Given the description of an element on the screen output the (x, y) to click on. 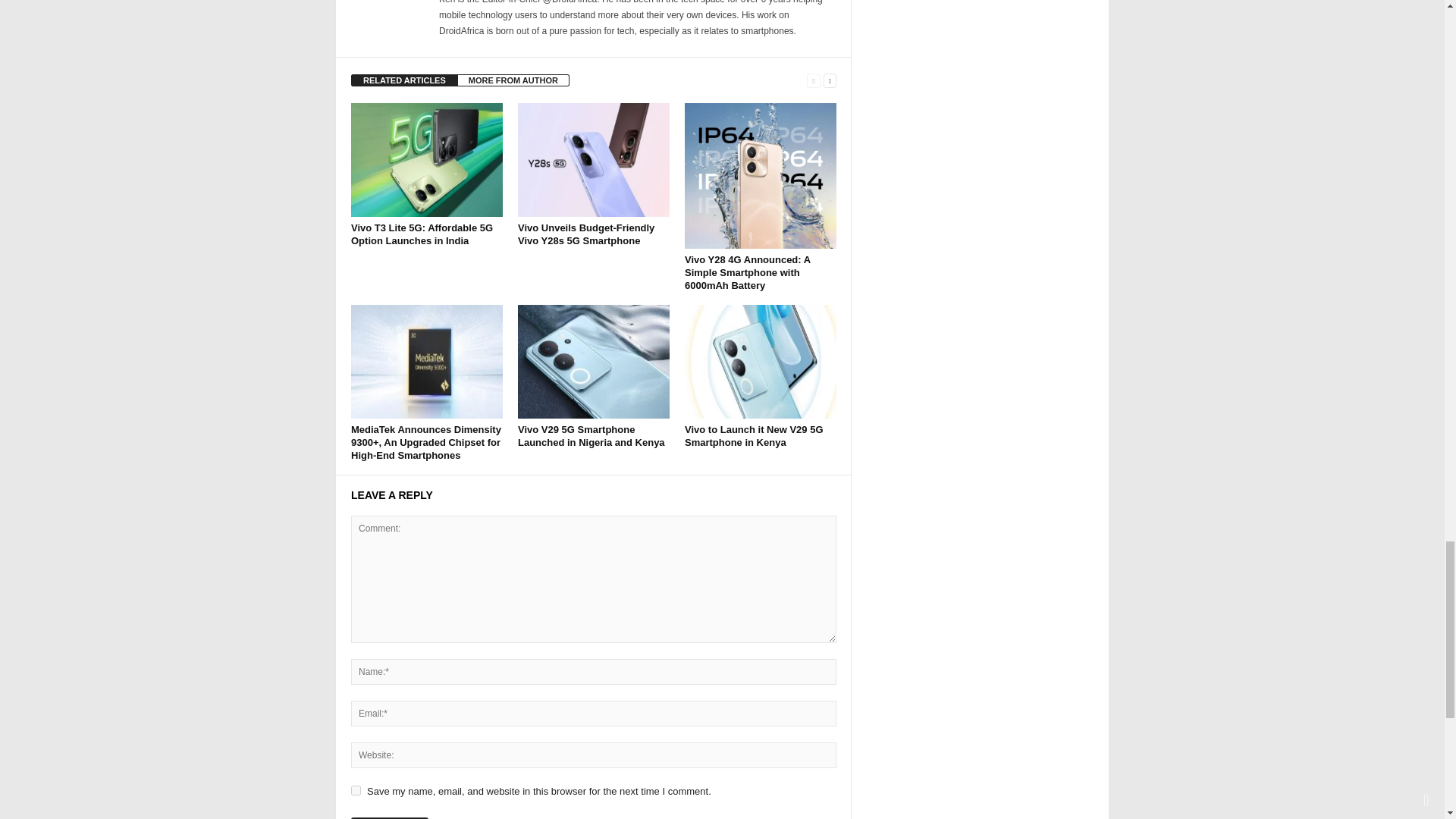
Post Comment (389, 818)
yes (355, 790)
